Given the description of an element on the screen output the (x, y) to click on. 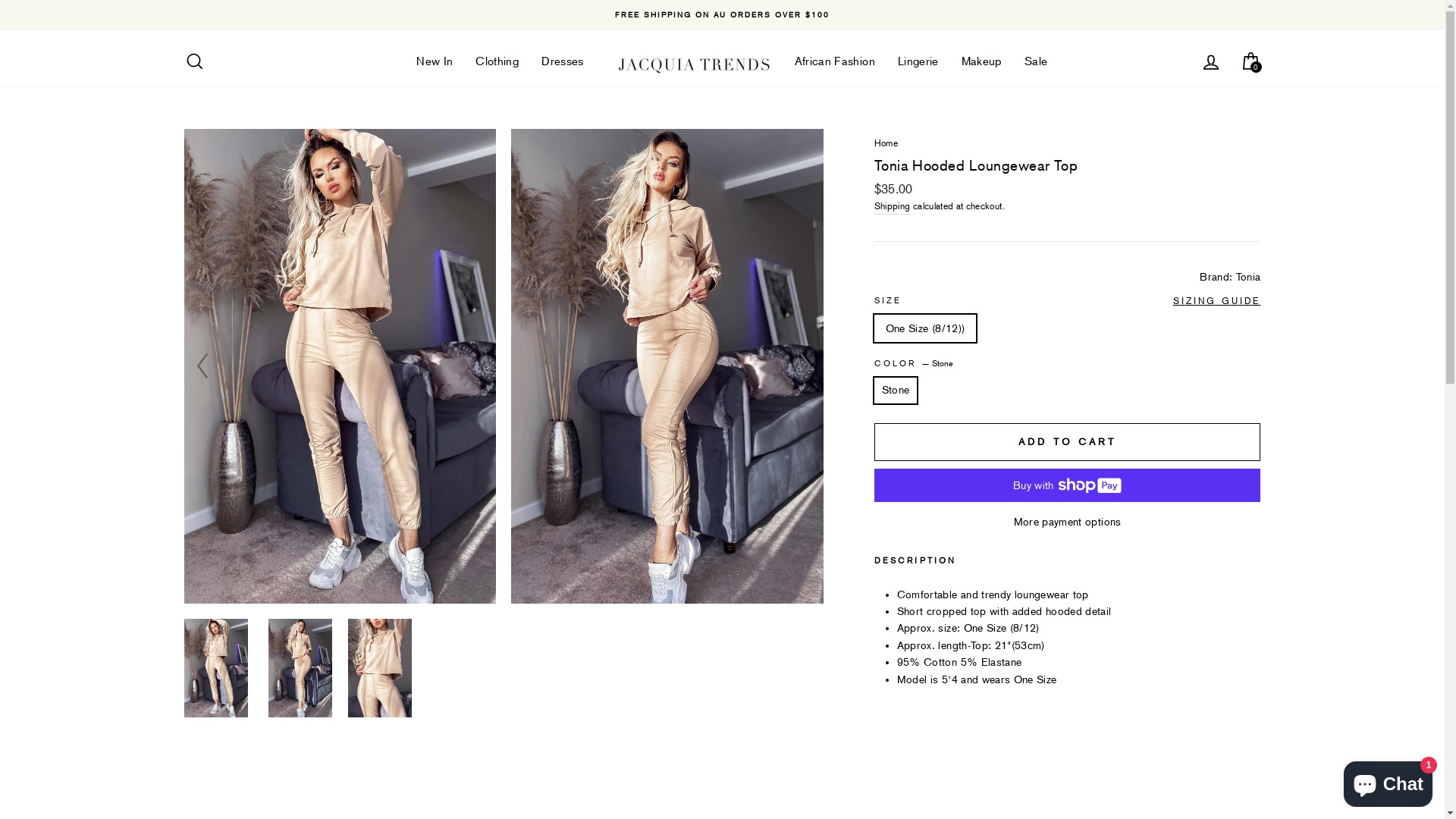
Log in Element type: text (1210, 65)
New In Element type: text (434, 65)
Skip to content Element type: text (0, 0)
Home Element type: text (885, 143)
FREE SHIPPING ON AU ORDERS OVER $100 Element type: text (722, 14)
Sale Element type: text (1035, 65)
Shipping Element type: text (892, 206)
African Fashion Element type: text (834, 65)
Clothing Element type: text (497, 65)
Lingerie Element type: text (918, 65)
Shopify online store chat Element type: hover (1388, 780)
Dresses Element type: text (562, 65)
ADD TO CART Element type: text (1067, 442)
Makeup Element type: text (981, 65)
More payment options Element type: text (1067, 521)
Cart
0 Element type: text (1249, 65)
Search Element type: text (193, 65)
